Given the description of an element on the screen output the (x, y) to click on. 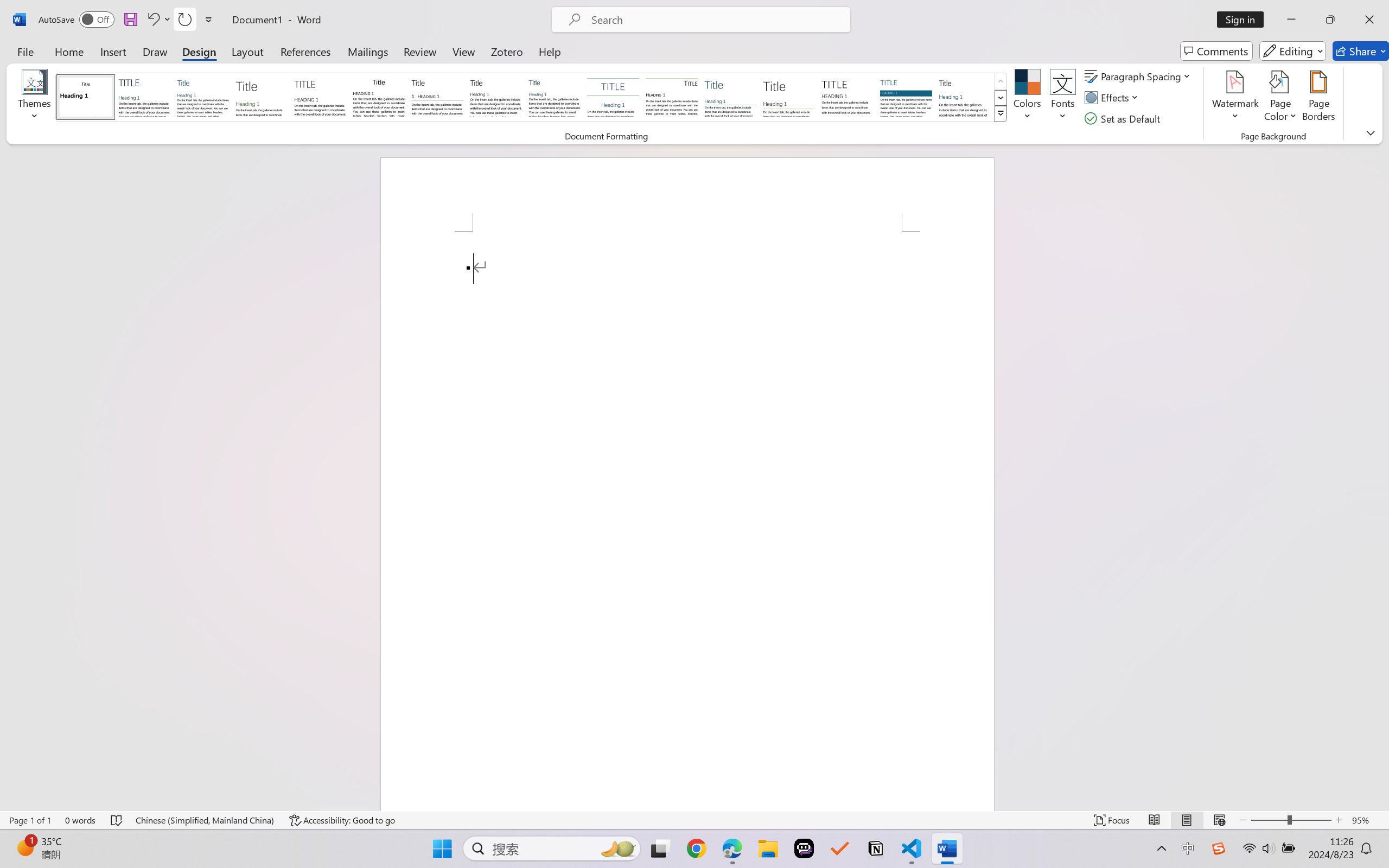
AutomationID: QuickStylesSets (531, 97)
Effects (1113, 97)
Shaded (905, 96)
Watermark (1235, 97)
Casual (554, 96)
Colors (1027, 97)
